Given the description of an element on the screen output the (x, y) to click on. 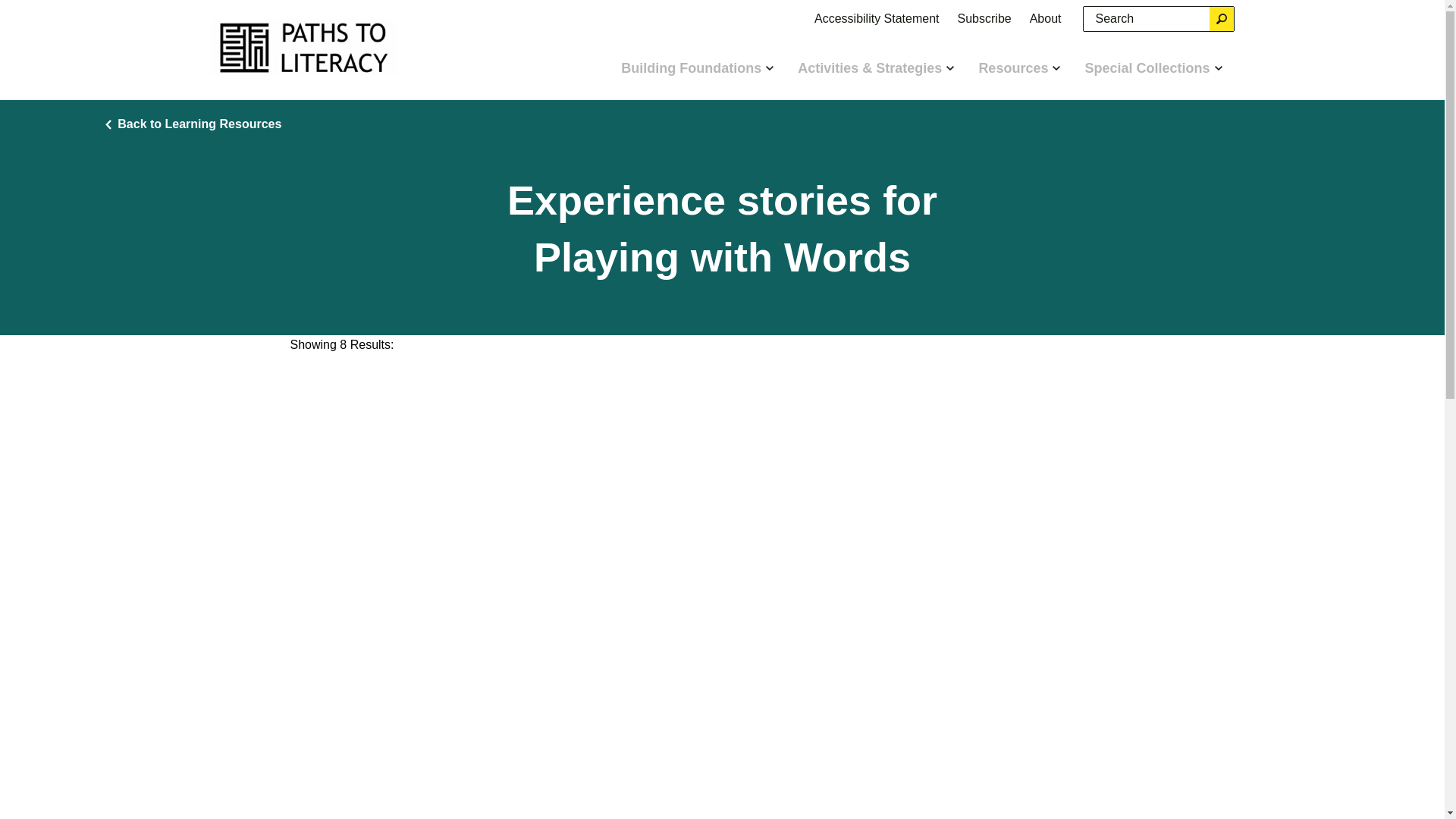
Search (1220, 18)
Building Foundations (697, 67)
Accessibility Statement (877, 18)
About (1045, 18)
Subscribe (984, 18)
Resources (1018, 67)
Search (1220, 18)
Search (1220, 18)
Home (304, 49)
